Given the description of an element on the screen output the (x, y) to click on. 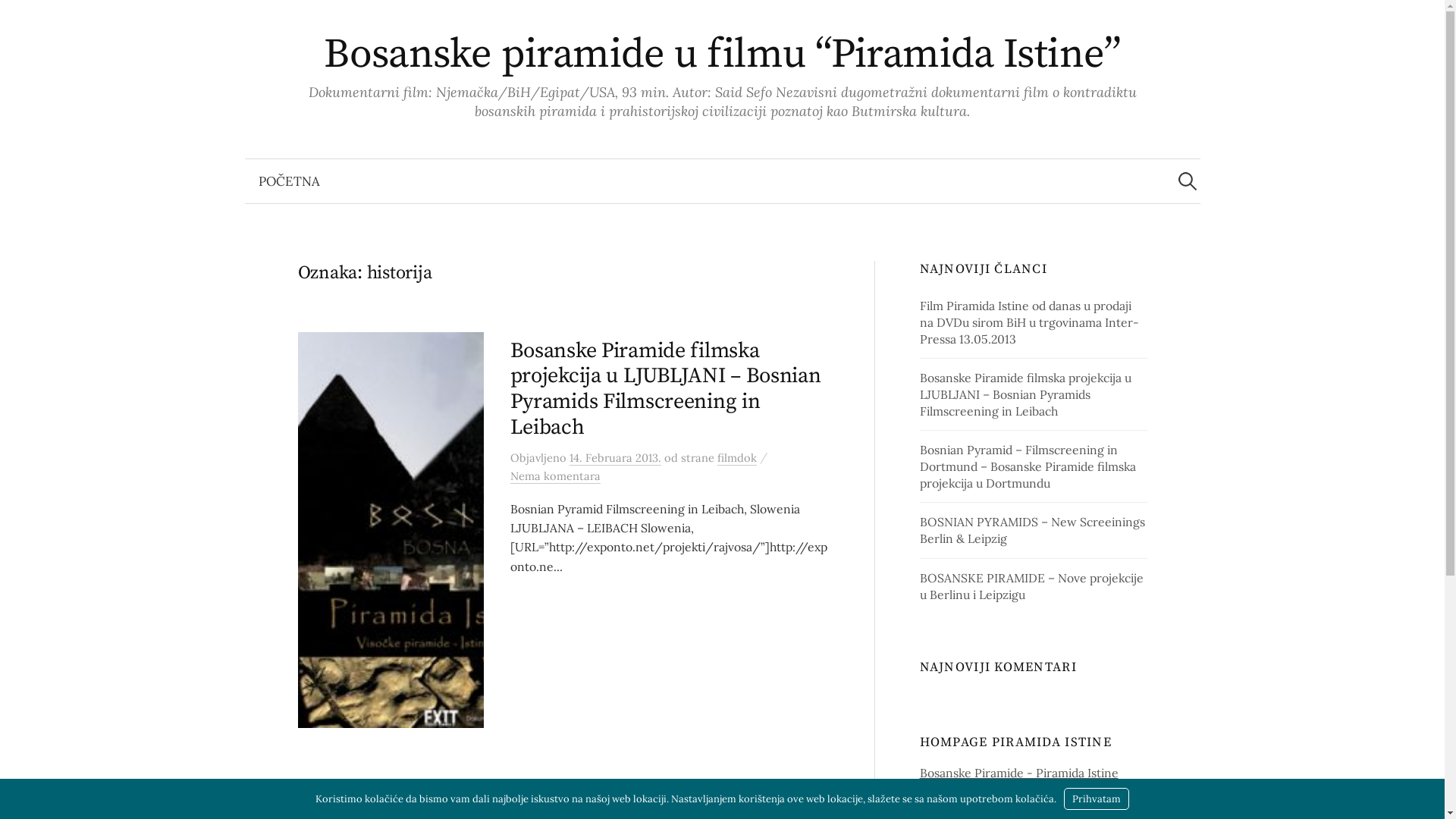
14. Februara 2013. Element type: text (614, 457)
filmdok Element type: text (736, 457)
Bosnian Pyramids - Finding the Truth Element type: text (1022, 809)
Prihvatam Element type: text (1096, 798)
Bosanske Piramide - Piramida Istine Element type: text (1018, 772)
Pretraga Element type: text (18, 18)
